Given the description of an element on the screen output the (x, y) to click on. 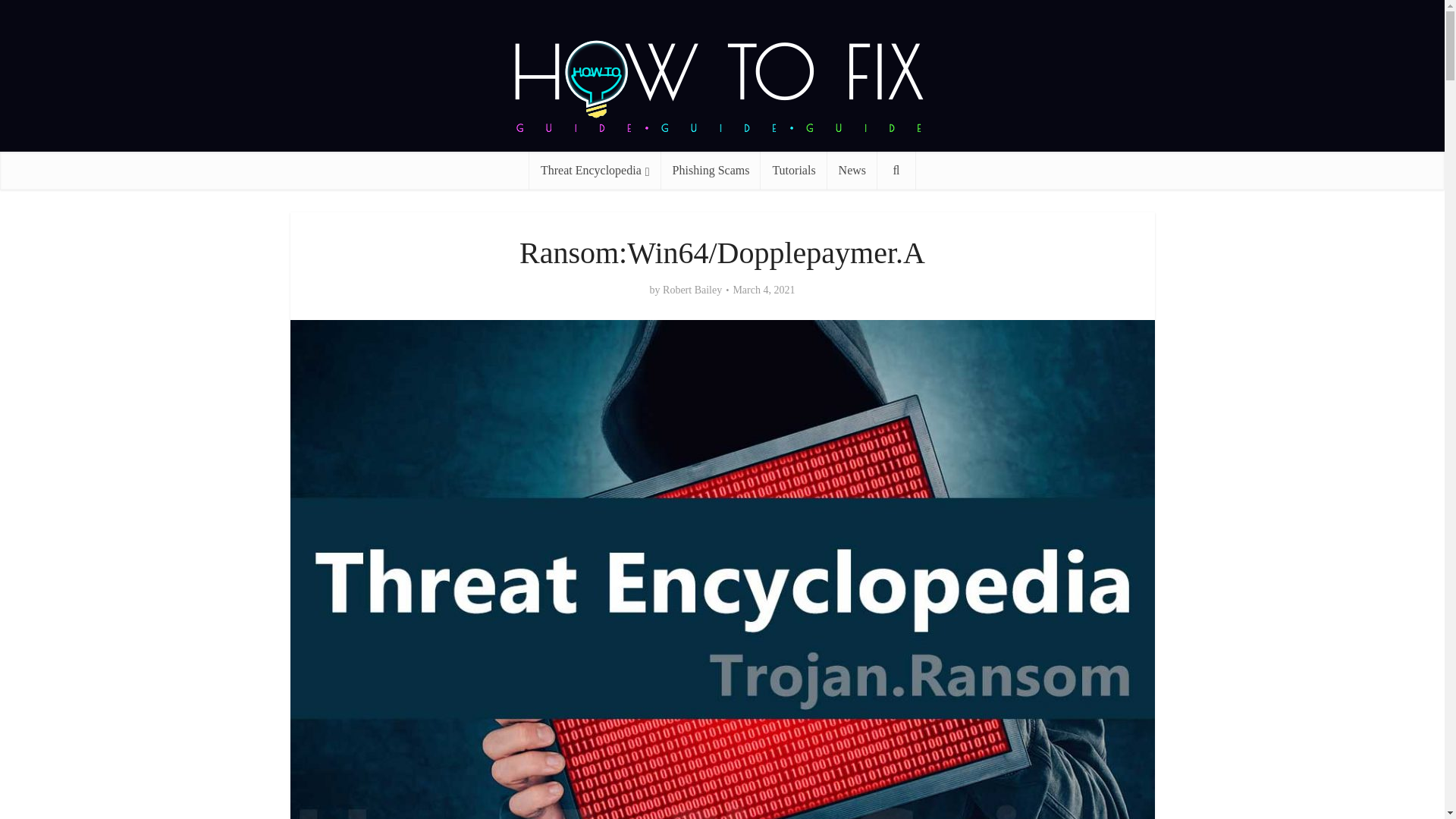
News (852, 170)
Threat Encyclopedia (595, 170)
Robert Bailey (692, 290)
Phishing Scams (711, 170)
Tutorials (793, 170)
